Given the description of an element on the screen output the (x, y) to click on. 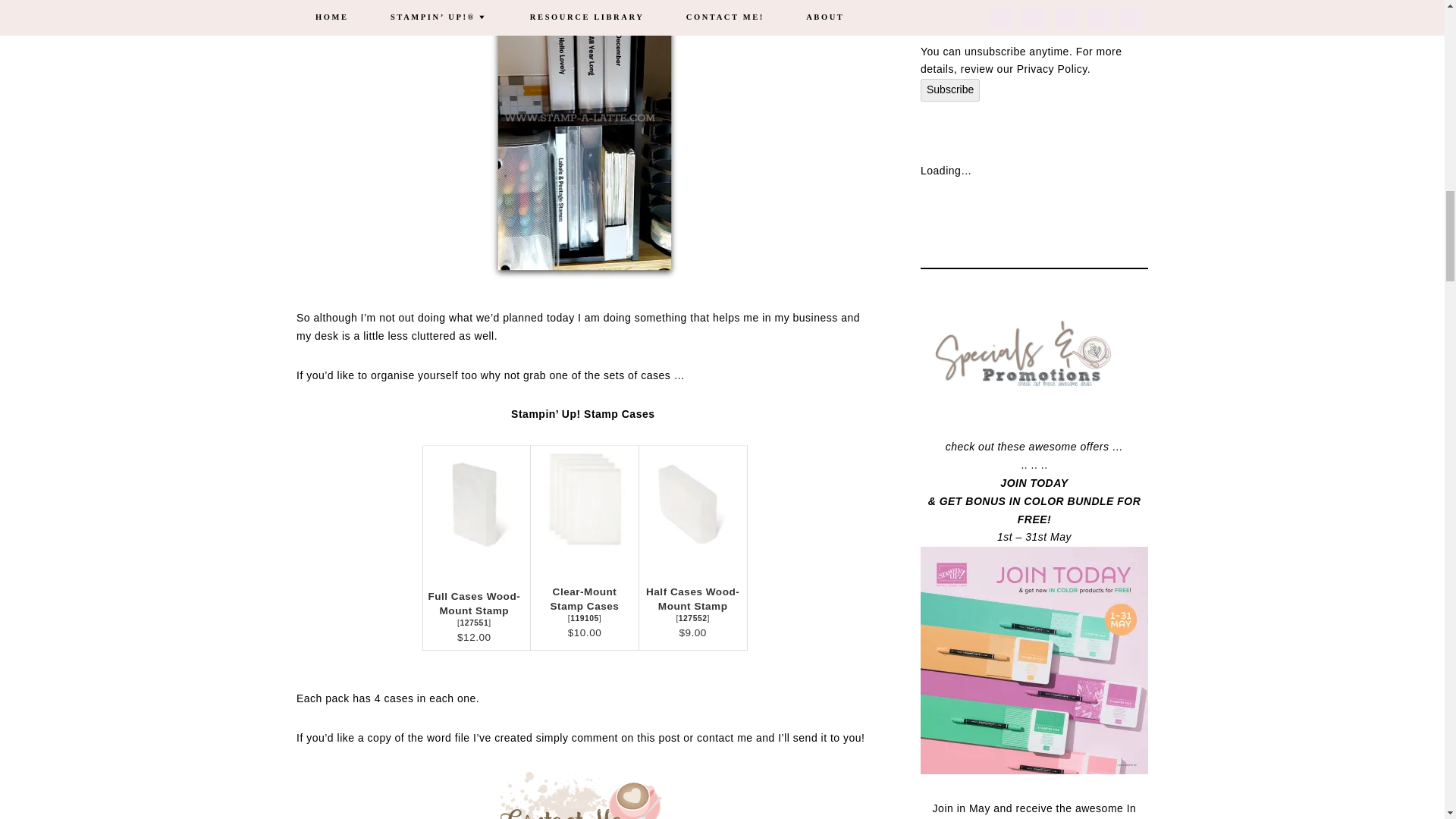
Clear-Mount Stamp Cases (584, 503)
Half Cases Wood-Mount Stamp (692, 598)
119105 (584, 618)
Clear-Mount Stamp Cases (585, 598)
Clear-Mount Stamp Cases (584, 618)
Half Cases Wood-Mount Stamp (692, 552)
Half Cases Wood-Mount Stamp (692, 598)
127552 (692, 618)
Clear-Mount Stamp Cases (584, 552)
Full Cases Wood-Mount Stamp (474, 557)
